Given the description of an element on the screen output the (x, y) to click on. 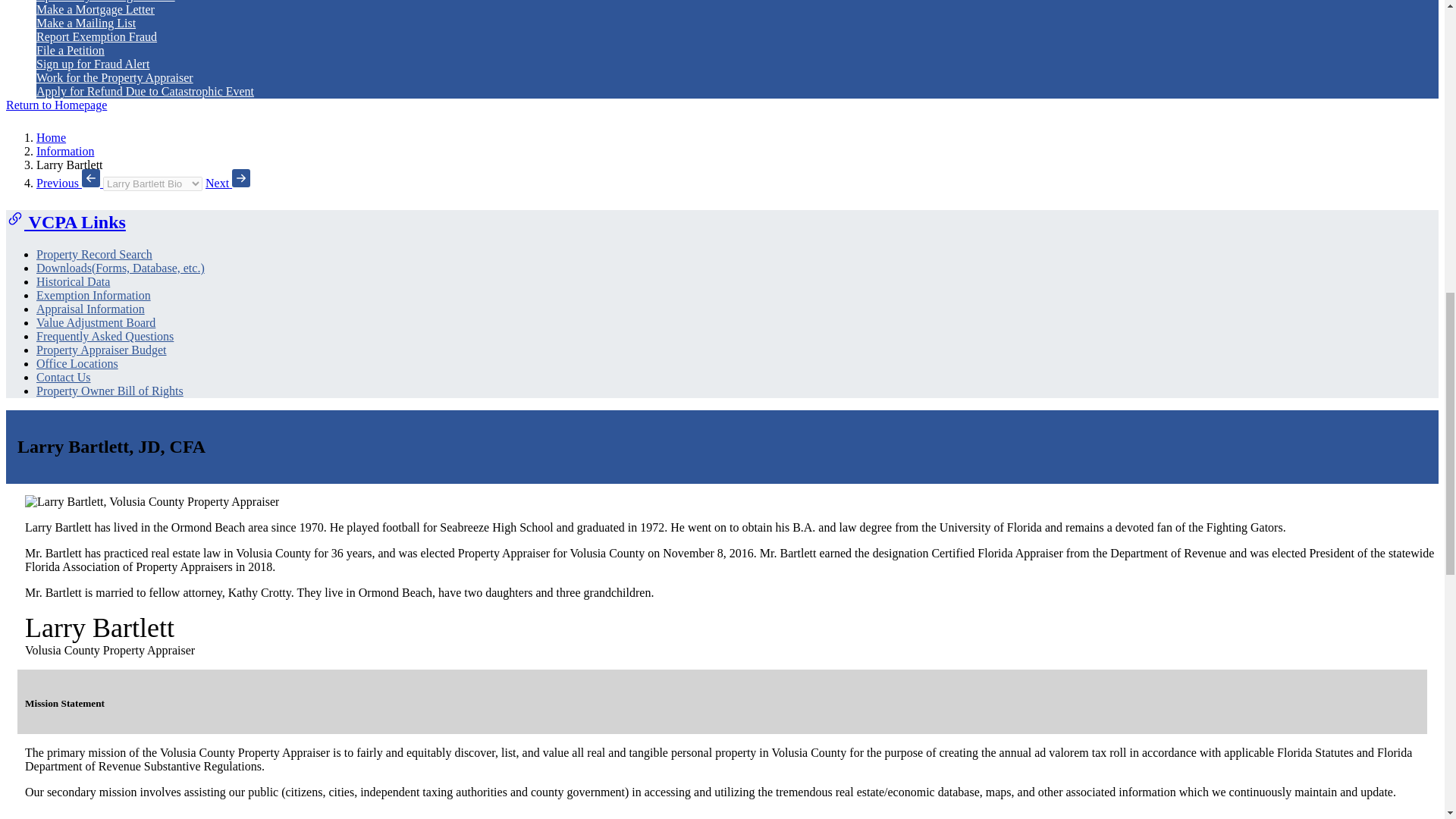
Breadcrumb (152, 183)
